Given the description of an element on the screen output the (x, y) to click on. 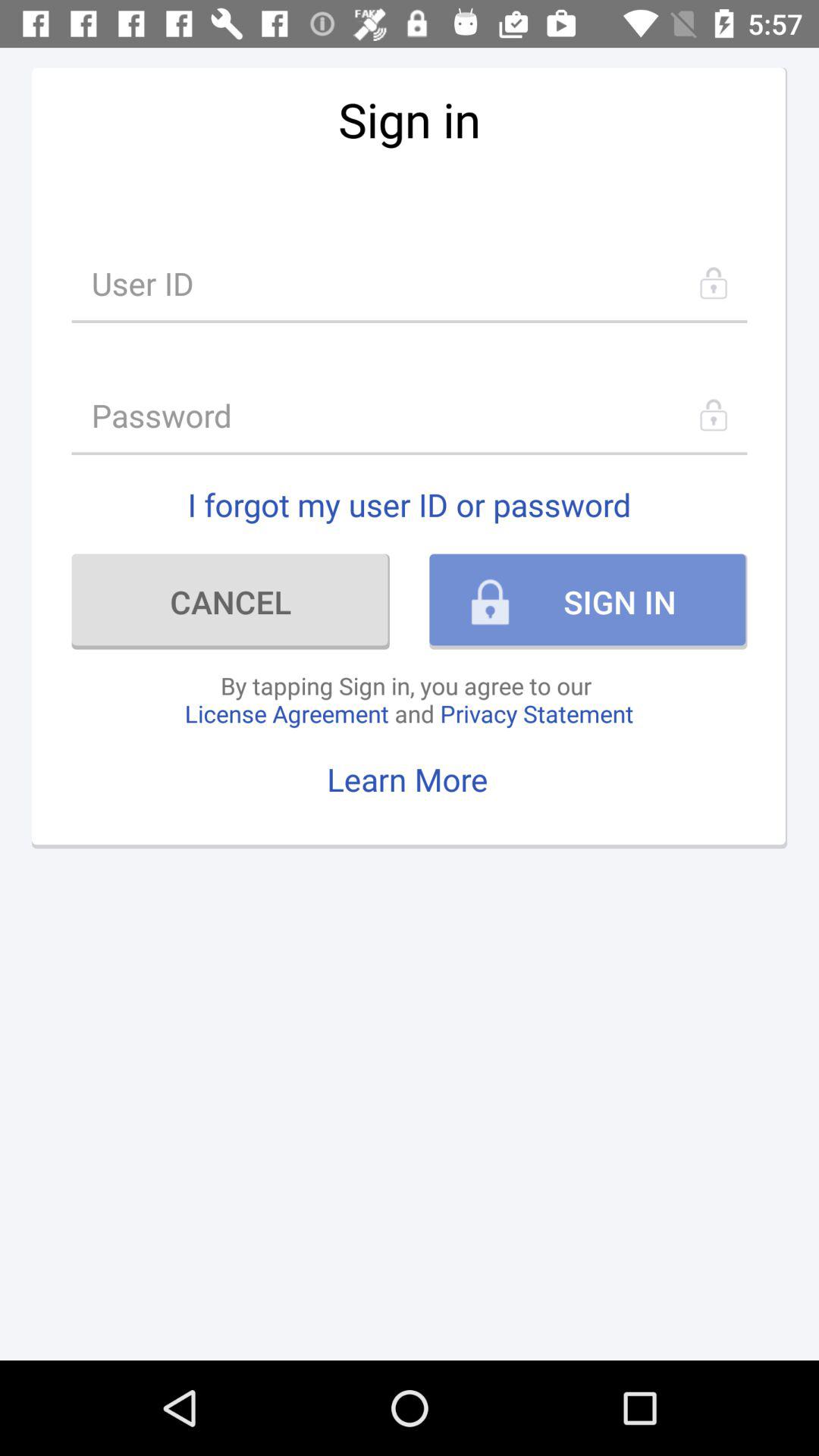
password text box (409, 415)
